Given the description of an element on the screen output the (x, y) to click on. 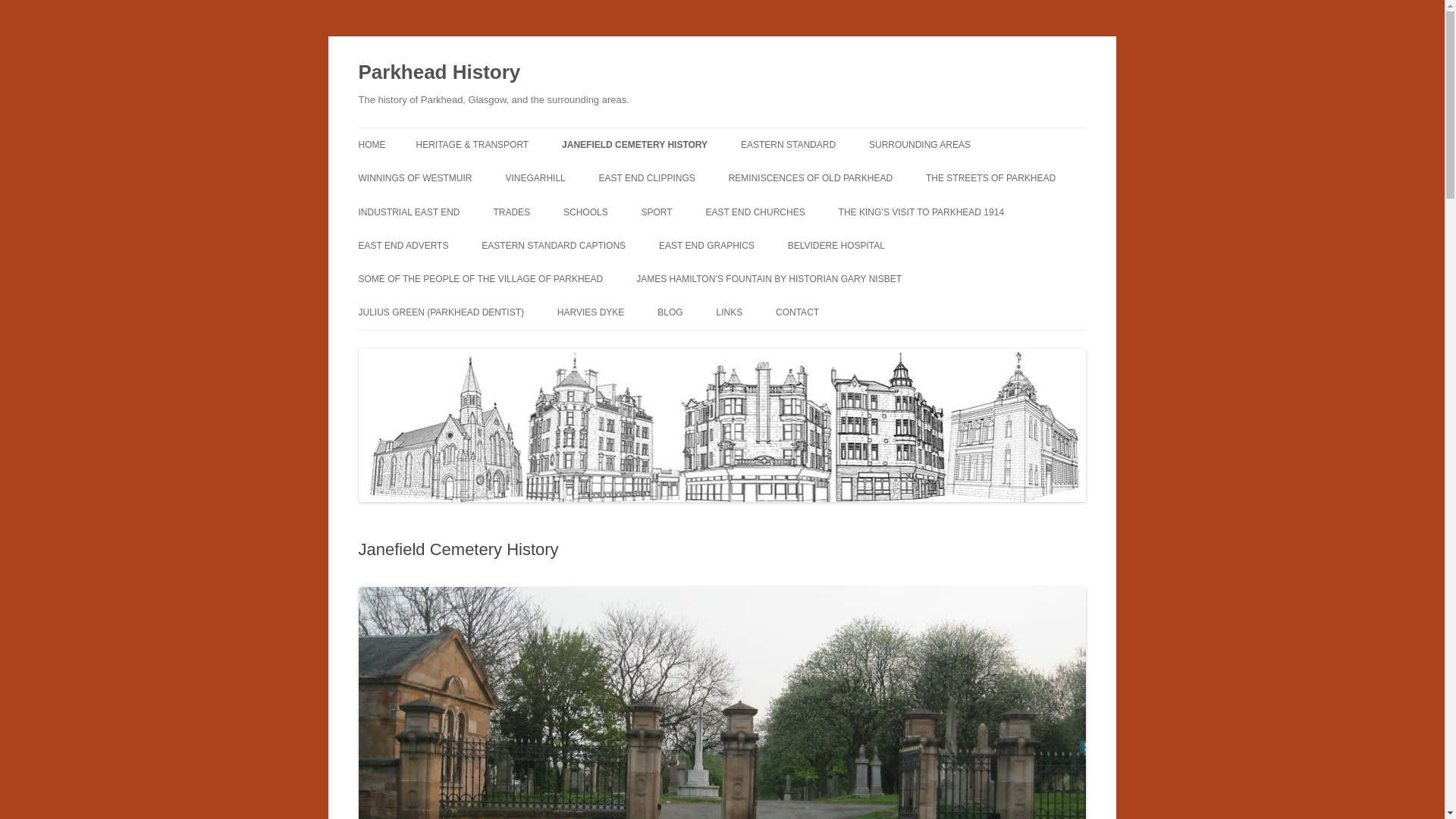
PARKHEAD HERITAGE (490, 176)
Parkhead History (438, 72)
JANEFIELD CEMETERY HISTORY (634, 144)
Parkhead History (438, 72)
EASTERN STANDARD (788, 144)
JANEFIELD MAPS (637, 176)
